Given the description of an element on the screen output the (x, y) to click on. 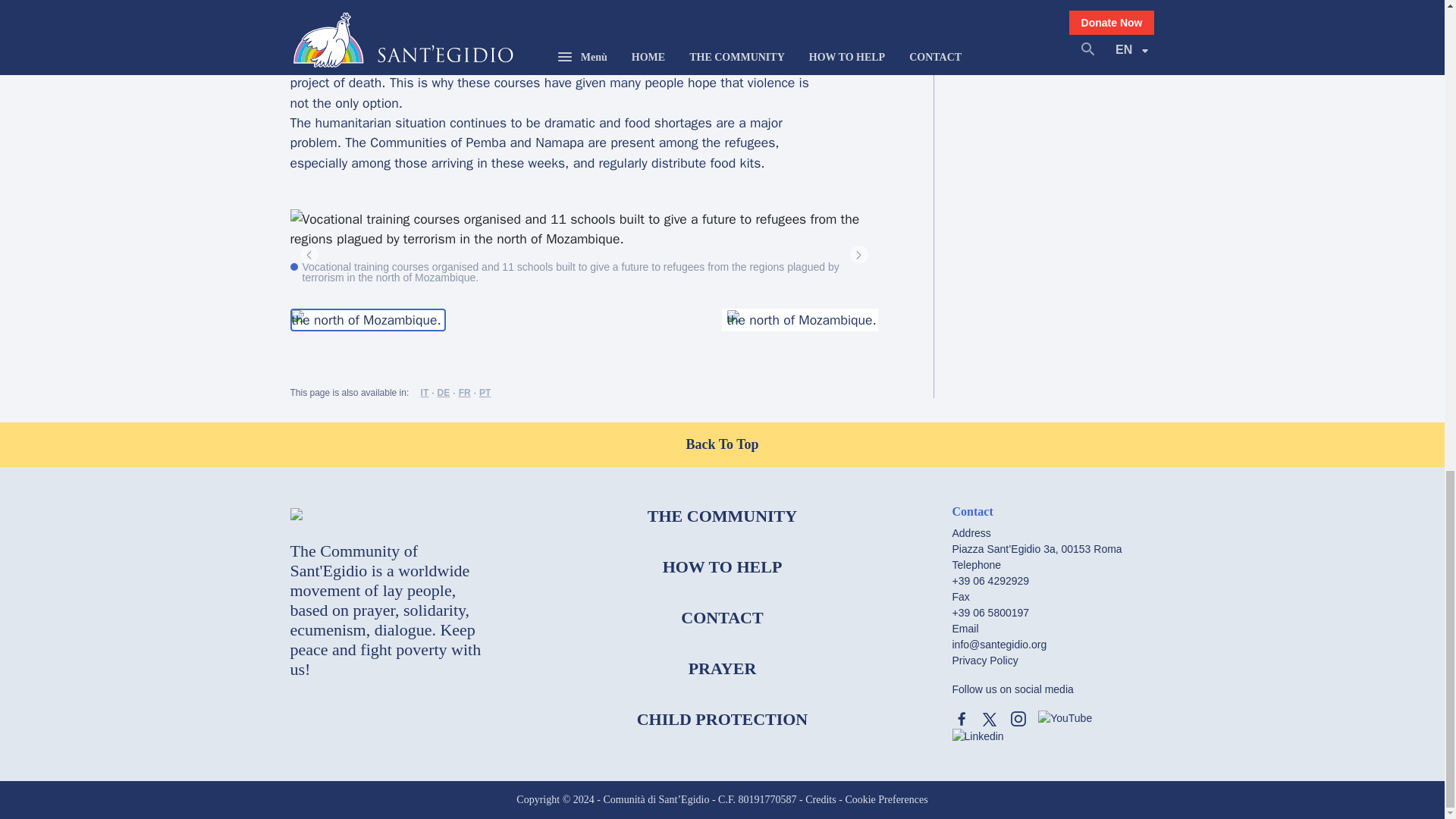
YouTube (1065, 718)
Twitter (988, 719)
Linkedin (978, 736)
Facebook (961, 719)
Instagram (1018, 719)
